Given the description of an element on the screen output the (x, y) to click on. 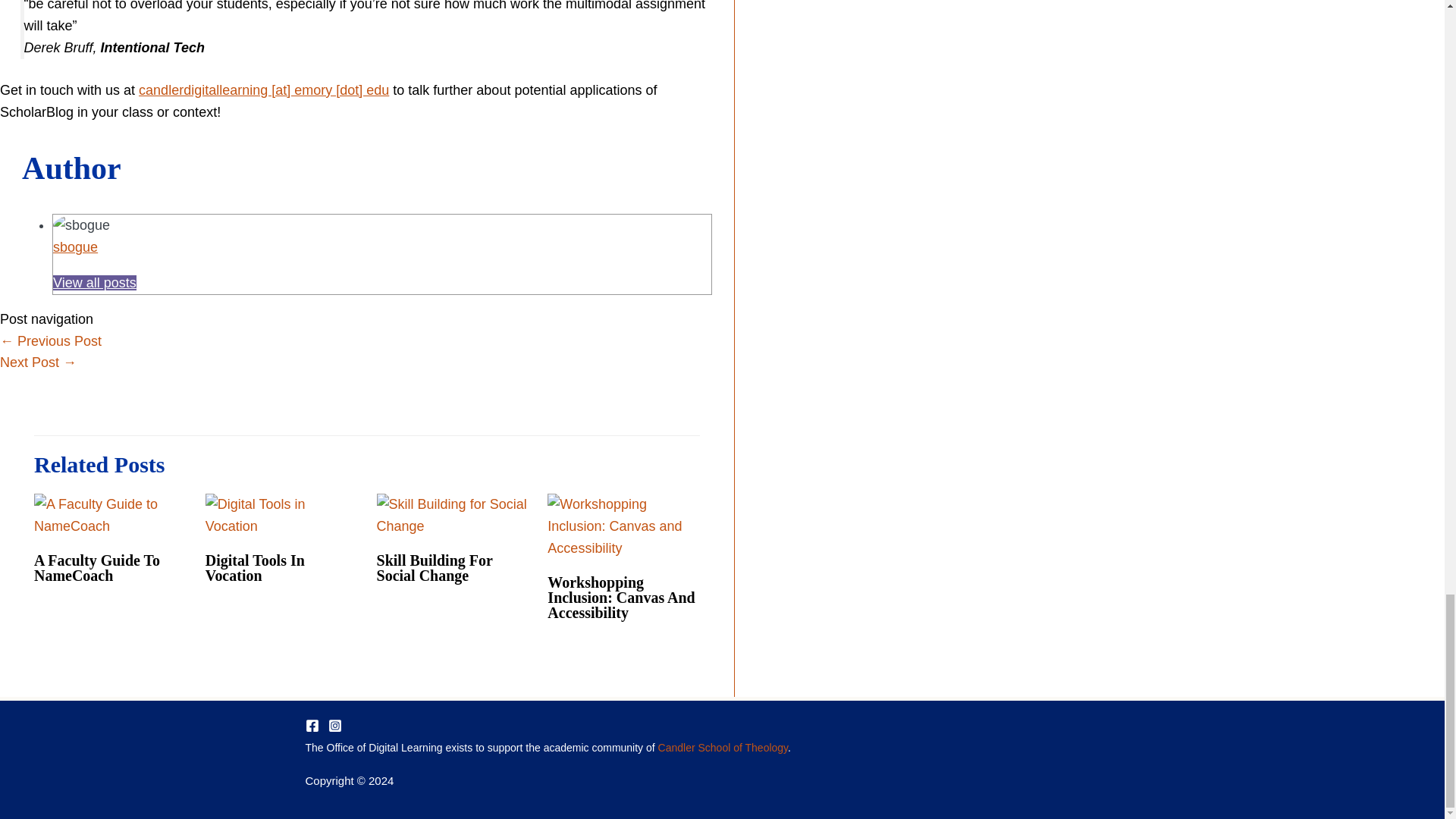
View all posts (94, 282)
Skill Building For Social Change (435, 567)
Digital Tools In Vocation (254, 567)
Called by Name: Using NameCoach in the Classroom (38, 362)
Workshopping Inclusion: Canvas And Accessibility (620, 597)
sbogue (74, 246)
sbogue (74, 246)
View all posts (94, 282)
A Faculty Guide To NameCoach (96, 567)
How to Download Respondus Lockdown Browser (50, 340)
